Given the description of an element on the screen output the (x, y) to click on. 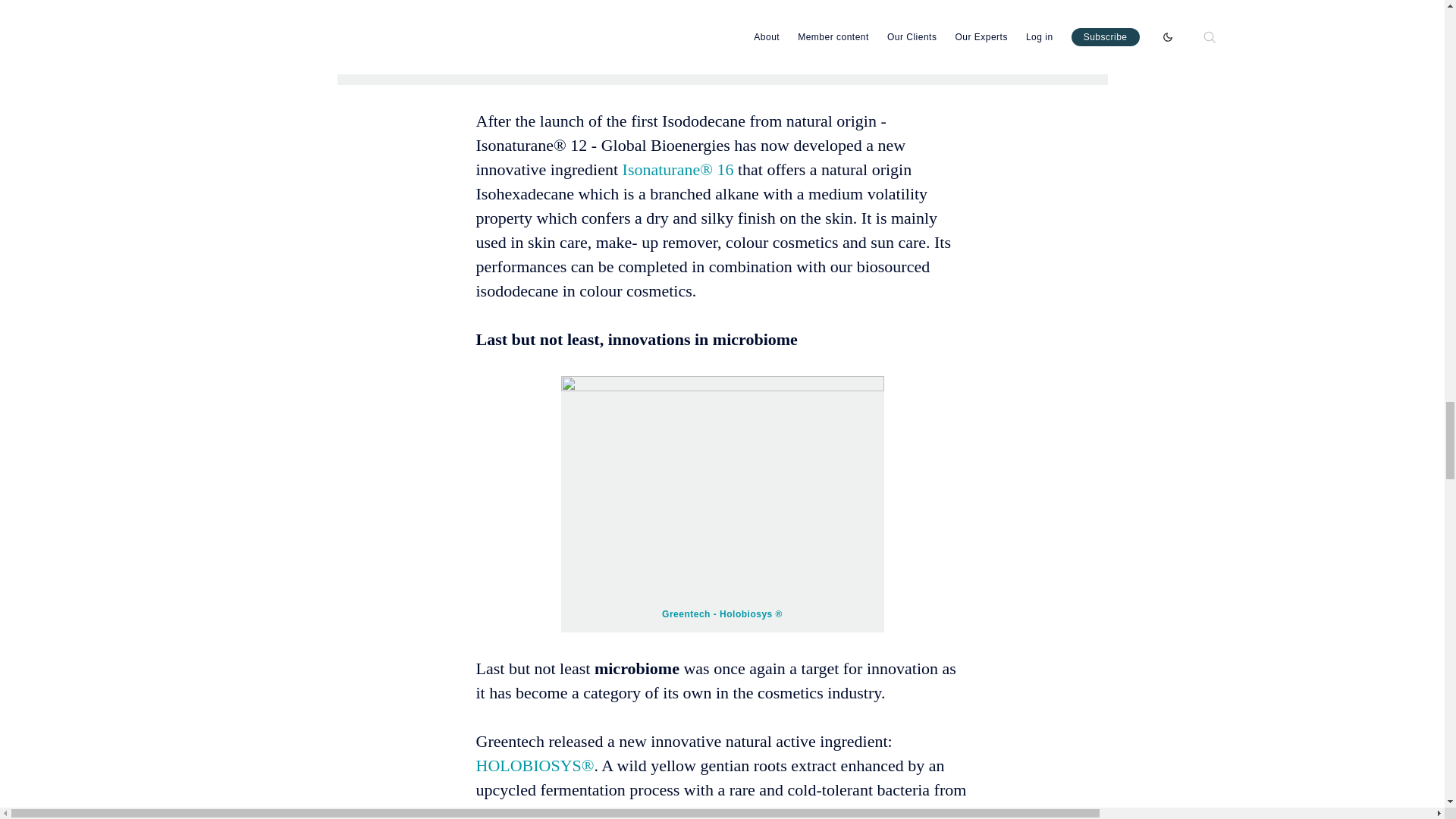
Greentech - Holobiosys (717, 613)
